Given the description of an element on the screen output the (x, y) to click on. 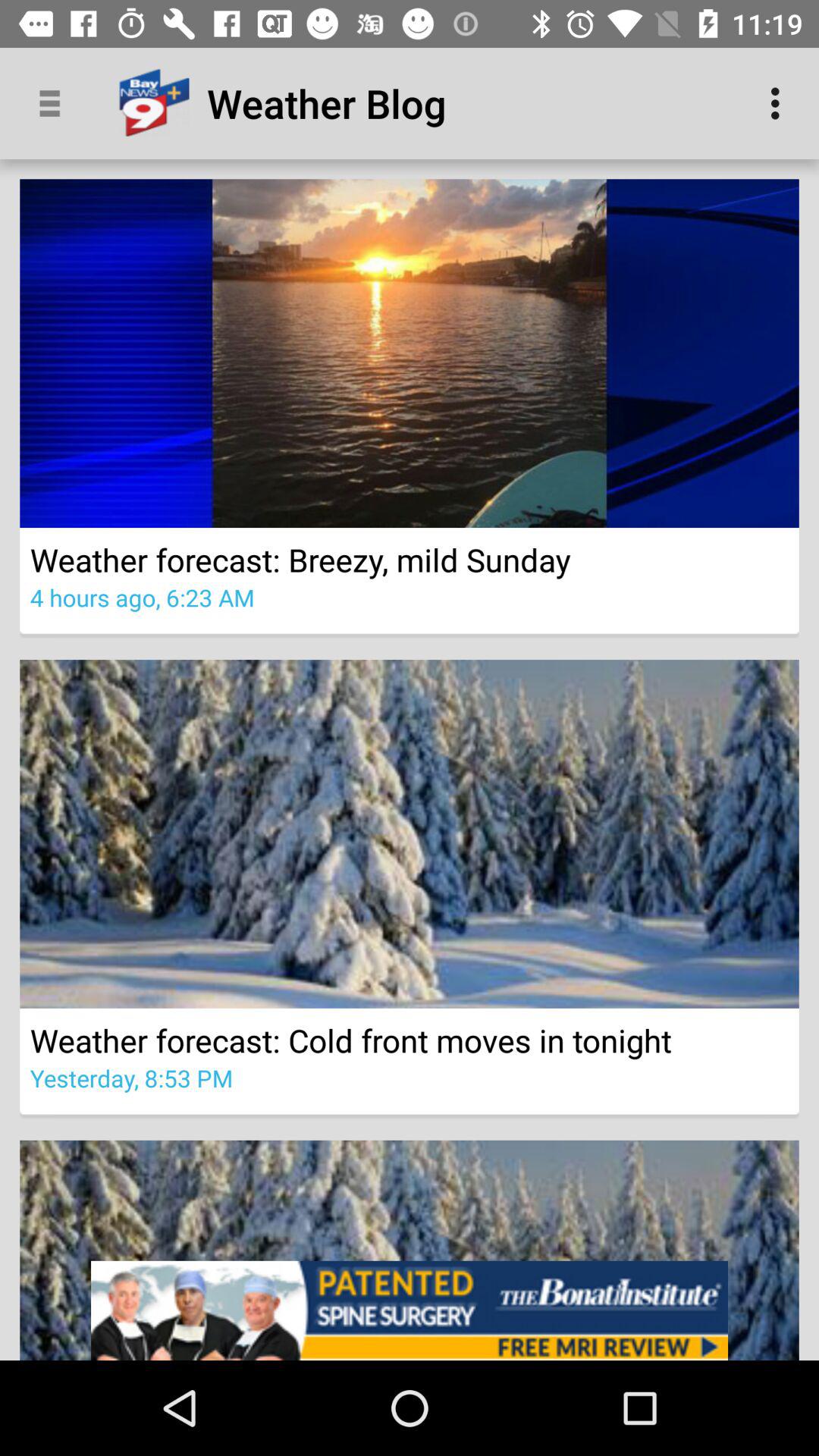
turn on the item below the yesterday 8 53 (409, 1310)
